Given the description of an element on the screen output the (x, y) to click on. 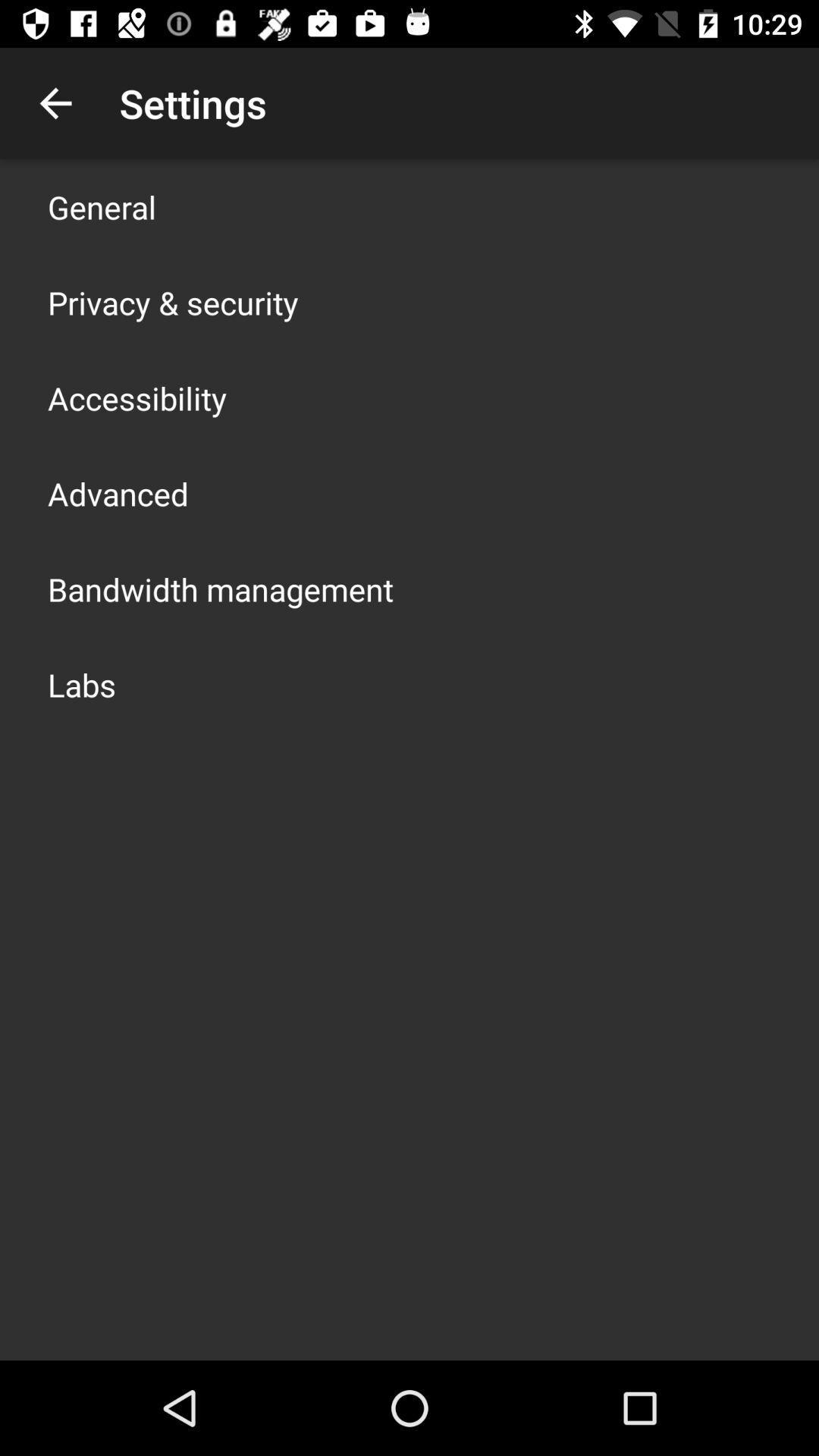
launch the app above privacy & security item (101, 206)
